Given the description of an element on the screen output the (x, y) to click on. 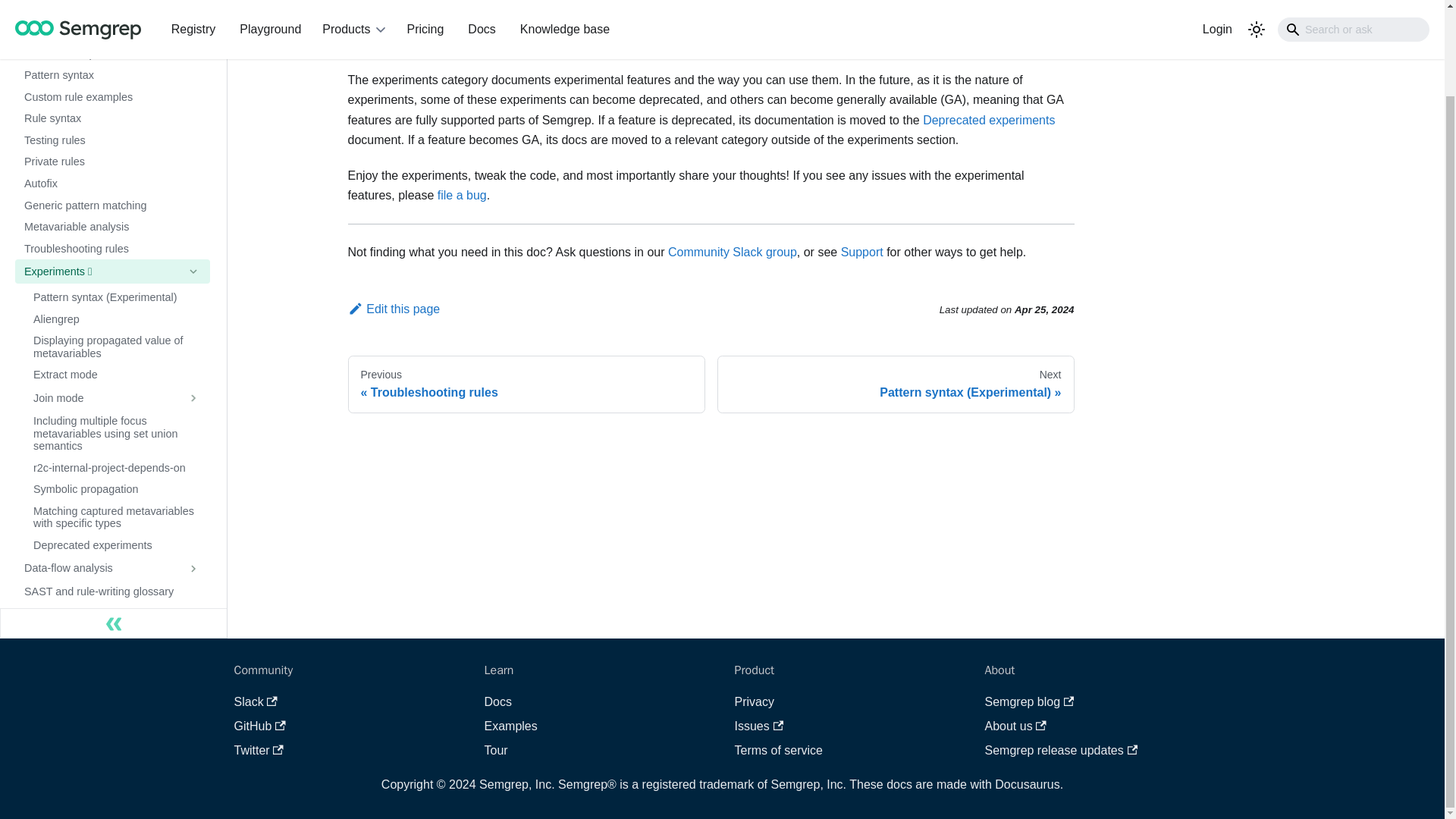
Custom rule examples (111, 97)
Symbolic propagation (116, 489)
Private rules (111, 161)
Autofix (111, 183)
Metavariable analysis (111, 227)
Generic pattern matching (111, 205)
Troubleshooting rules (111, 249)
Pattern examples (111, 54)
Pattern syntax (111, 75)
